Given the description of an element on the screen output the (x, y) to click on. 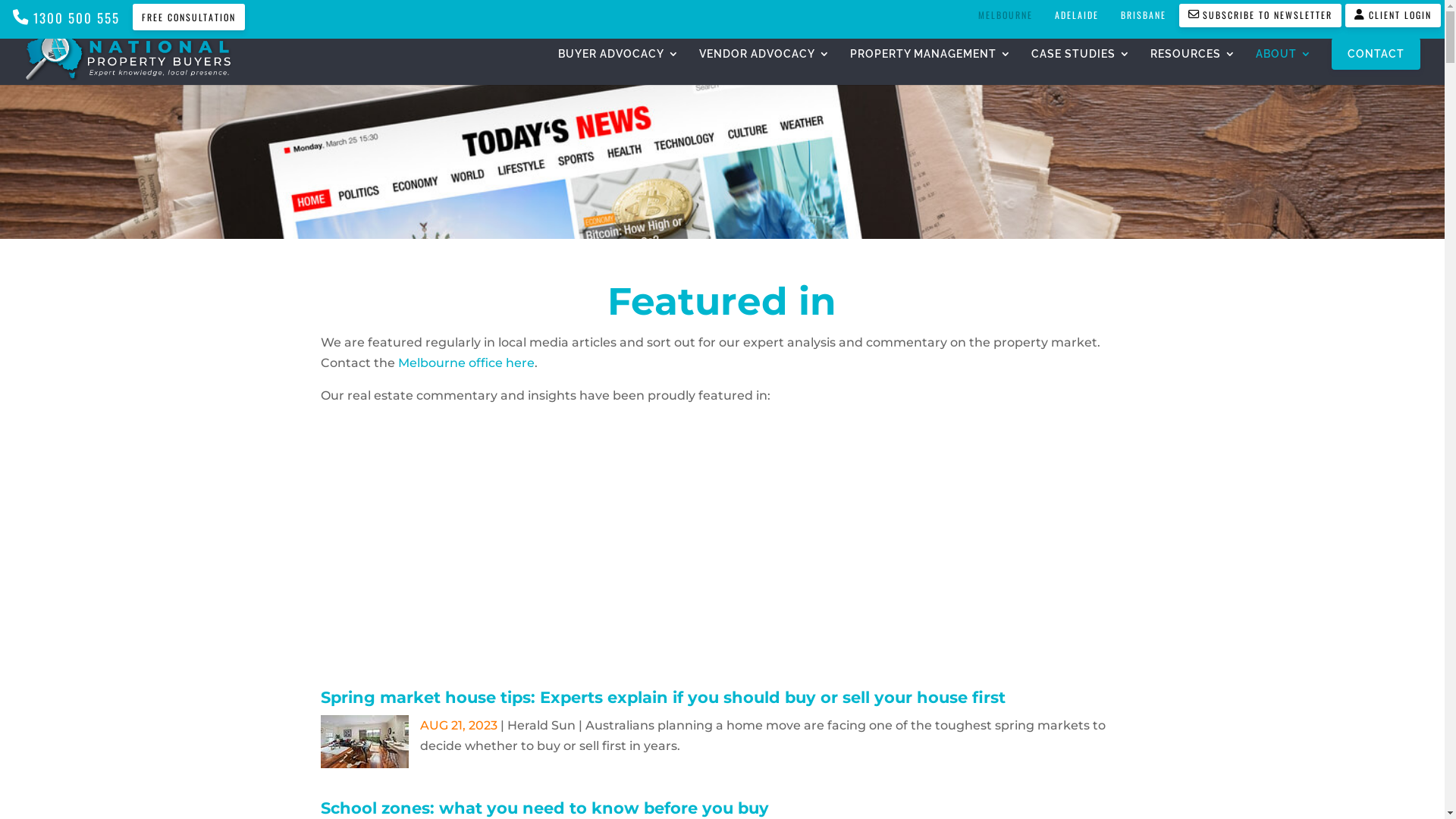
1300 500 555 Element type: text (66, 18)
CLIENT LOGIN Element type: text (1392, 15)
RESOURCES Element type: text (1193, 66)
BUYER ADVOCACY Element type: text (618, 66)
FREE CONSULTATION Element type: text (188, 16)
CASE STUDIES Element type: text (1080, 66)
MELBOURNE Element type: text (1005, 14)
PROPERTY MANAGEMENT Element type: text (930, 66)
Melbourne office here Element type: text (465, 362)
SUBSCRIBE TO NEWSLETTER Element type: text (1260, 15)
ADELAIDE Element type: text (1076, 14)
VENDOR ADVOCACY Element type: text (764, 66)
ABOUT Element type: text (1283, 66)
CONTACT Element type: text (1375, 53)
BRISBANE Element type: text (1143, 14)
